Given the description of an element on the screen output the (x, y) to click on. 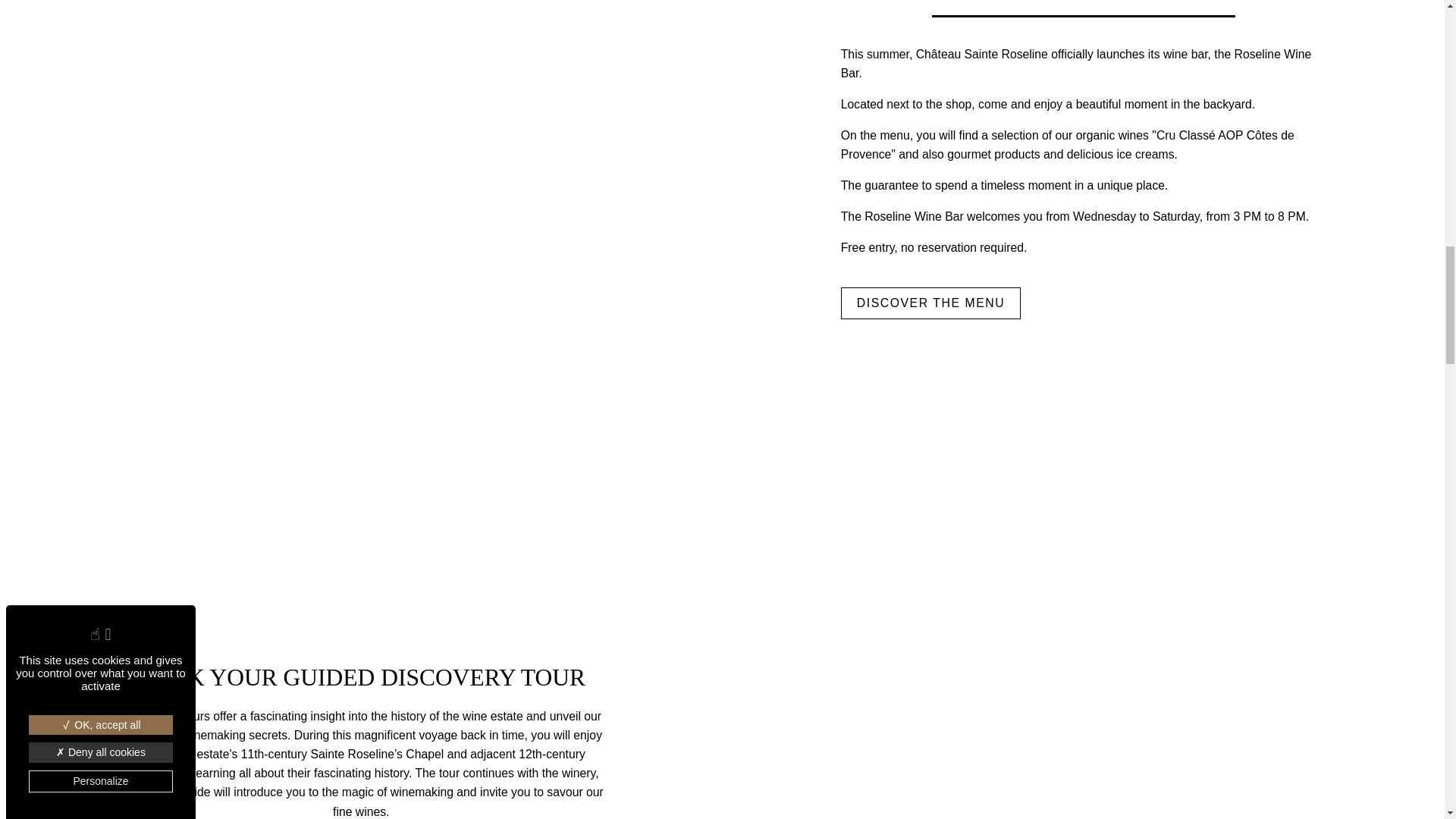
DISCOVER THE MENU (930, 303)
